Given the description of an element on the screen output the (x, y) to click on. 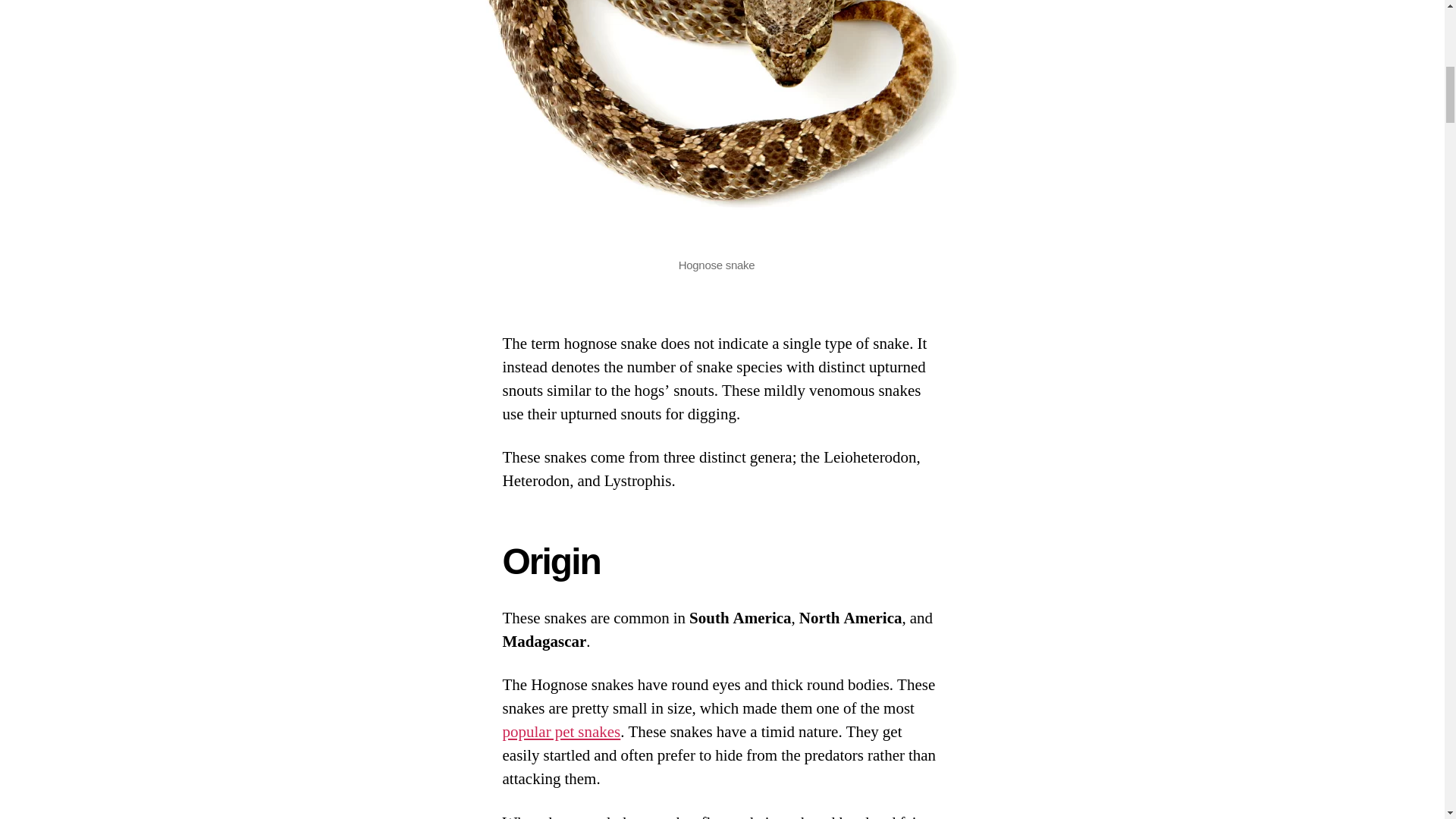
popular pet snakes (561, 731)
